Given the description of an element on the screen output the (x, y) to click on. 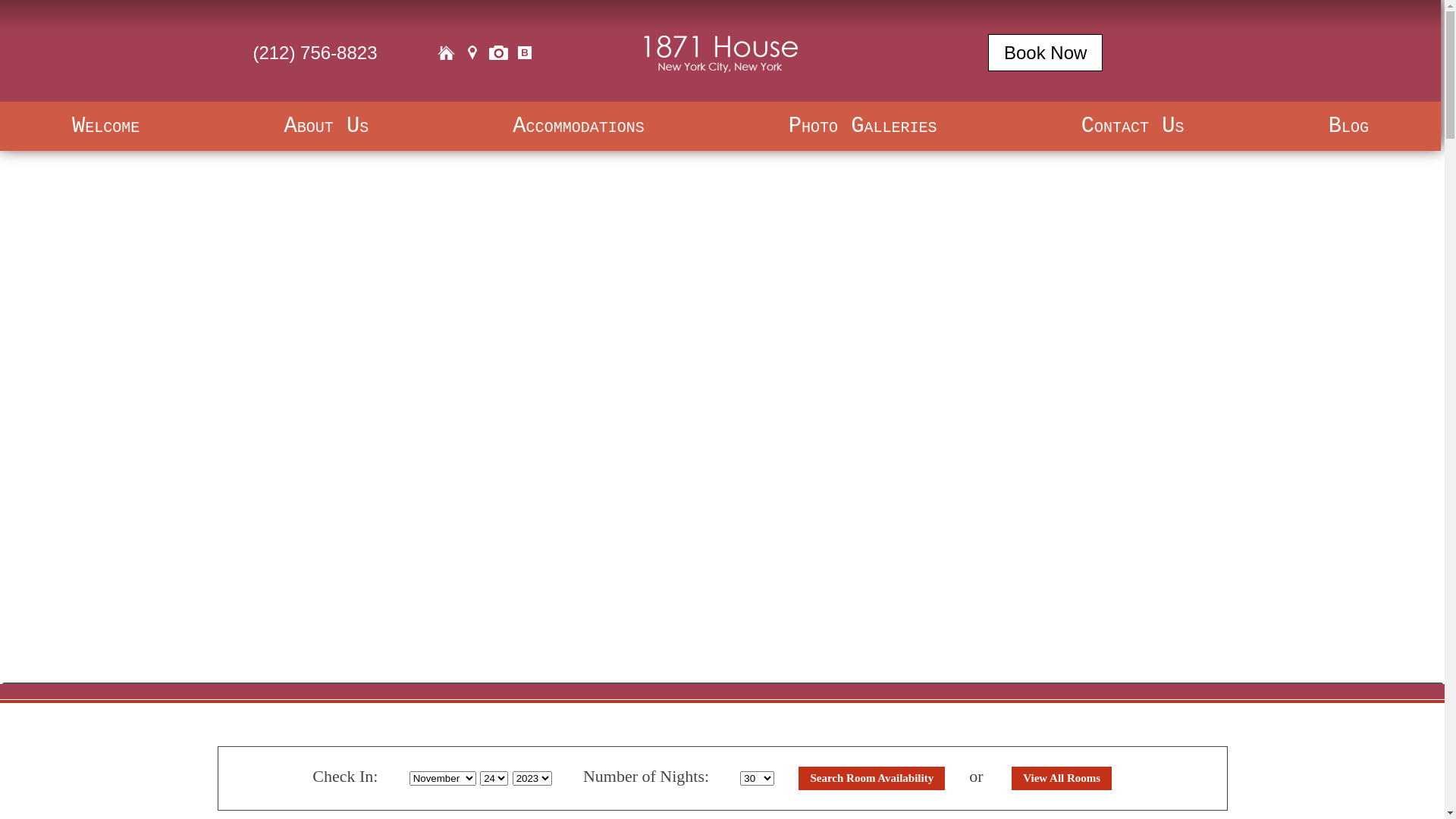
Accommodations Element type: text (577, 125)
Blog Element type: text (1348, 125)
Contact Us Element type: text (1132, 125)
About Us Element type: text (325, 125)
Go to Directions Page Element type: hover (472, 52)
Welcome Element type: text (105, 125)
Home Page Rotation Element type: hover (721, 388)
Skip to secondary content Element type: text (185, 147)
(212) 756-8823 Element type: text (314, 52)
Go to Web Site Blog Element type: hover (524, 52)
View All Rooms Element type: text (1061, 777)
Book Now Element type: text (1045, 52)
1871 House Element type: hover (720, 50)
Skip to primary content Element type: text (173, 125)
Go to Welcome Page Element type: hover (445, 52)
Photo Galleries Element type: text (862, 125)
Search Room Availability Element type: text (871, 777)
Go to Web Site Photo Gallery Element type: hover (498, 52)
